Given the description of an element on the screen output the (x, y) to click on. 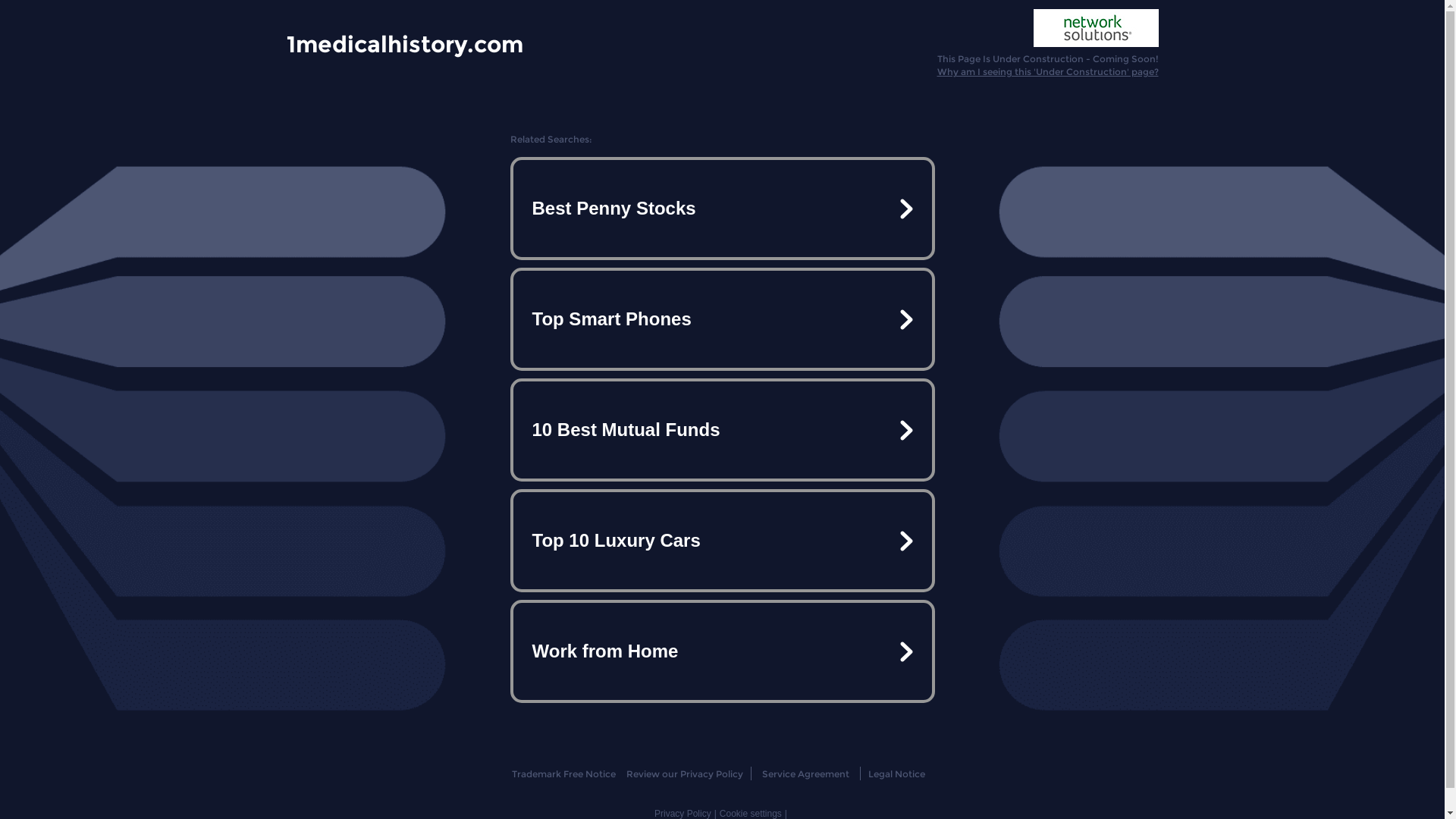
Top Smart Phones Element type: text (721, 318)
Best Penny Stocks Element type: text (721, 208)
Work from Home Element type: text (721, 650)
Trademark Free Notice Element type: text (563, 773)
10 Best Mutual Funds Element type: text (721, 429)
Legal Notice Element type: text (896, 773)
Review our Privacy Policy Element type: text (684, 773)
Why am I seeing this 'Under Construction' page? Element type: text (1047, 71)
1medicalhistory.com Element type: text (404, 43)
Top 10 Luxury Cars Element type: text (721, 540)
Service Agreement Element type: text (805, 773)
